Given the description of an element on the screen output the (x, y) to click on. 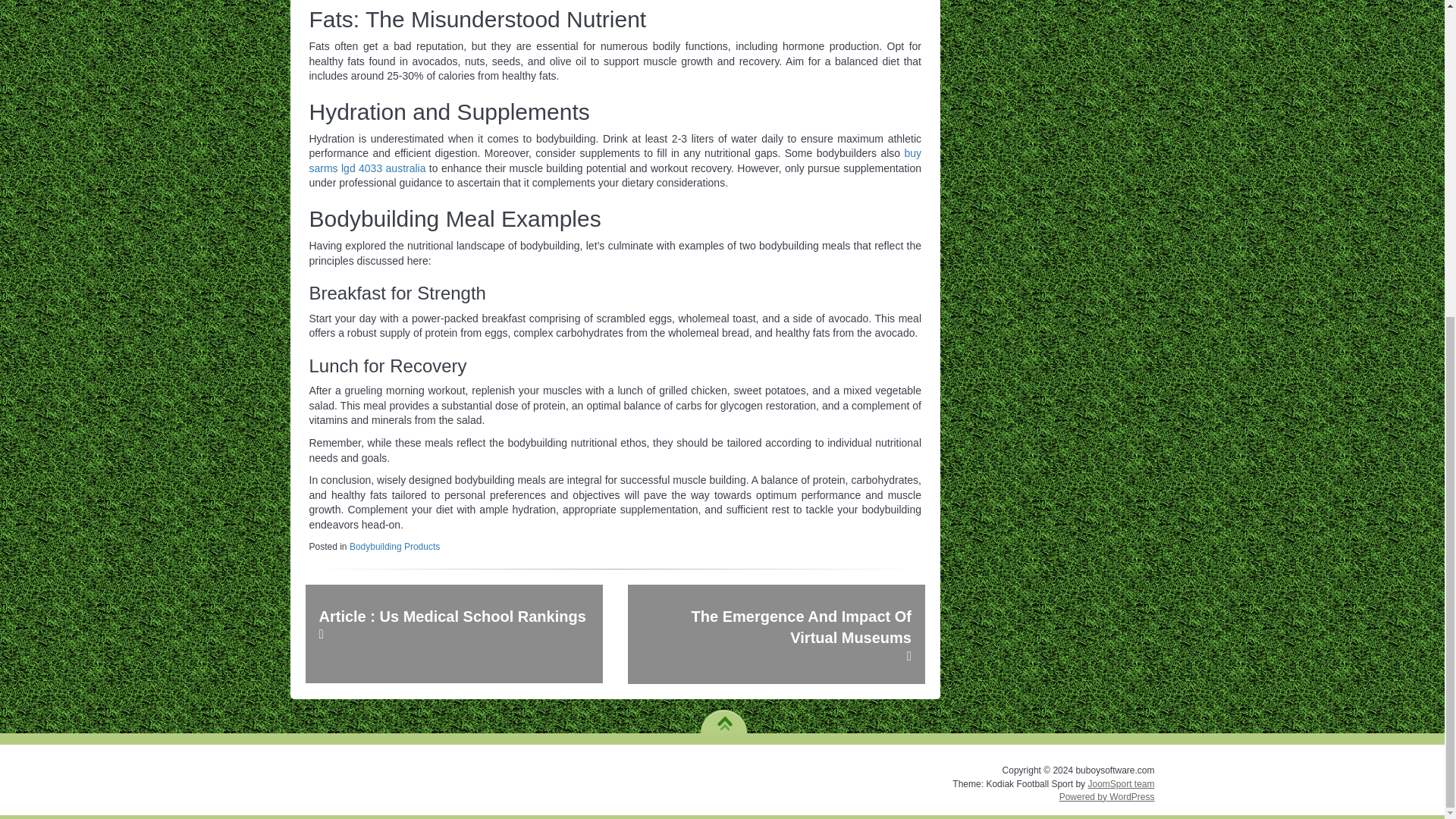
 The Best WordPress Sport Plugin for your league and club  (1120, 783)
Article : Us Medical School Rankings (453, 633)
The Emergence And Impact Of Virtual Museums (775, 634)
TO TOP (723, 717)
Bodybuilding Products (394, 546)
buy sarms lgd 4033 australia (614, 160)
JoomSport team (1120, 783)
Powered by WordPress (1106, 796)
